Given the description of an element on the screen output the (x, y) to click on. 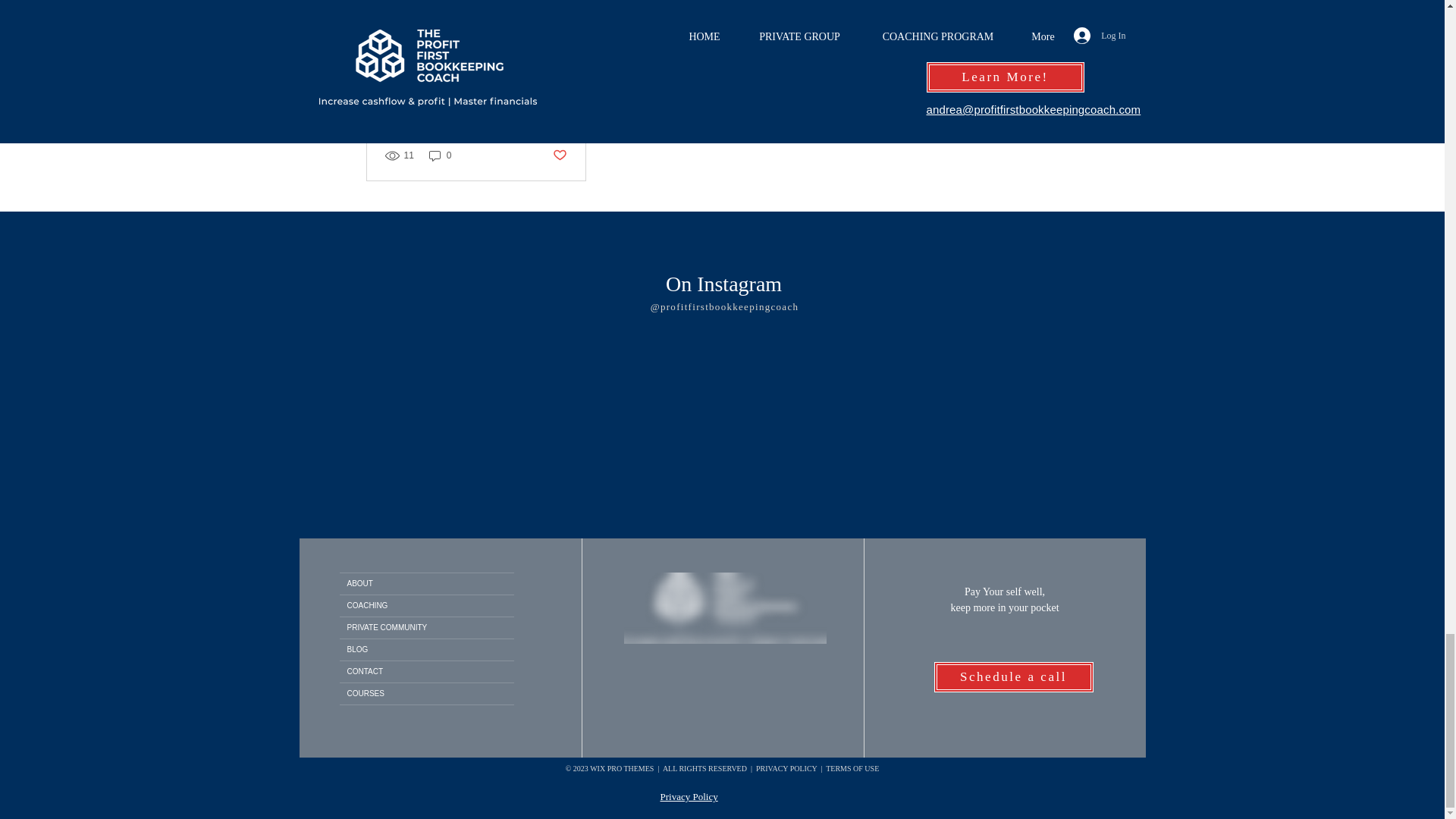
0 (440, 155)
Privacy Policy (688, 796)
COURSES (426, 693)
PRIVATE COMMUNITY (426, 627)
ABOUT (426, 583)
COACHING (426, 605)
BLOG (426, 649)
Post not marked as liked (558, 155)
CONTACT (426, 671)
